Given the description of an element on the screen output the (x, y) to click on. 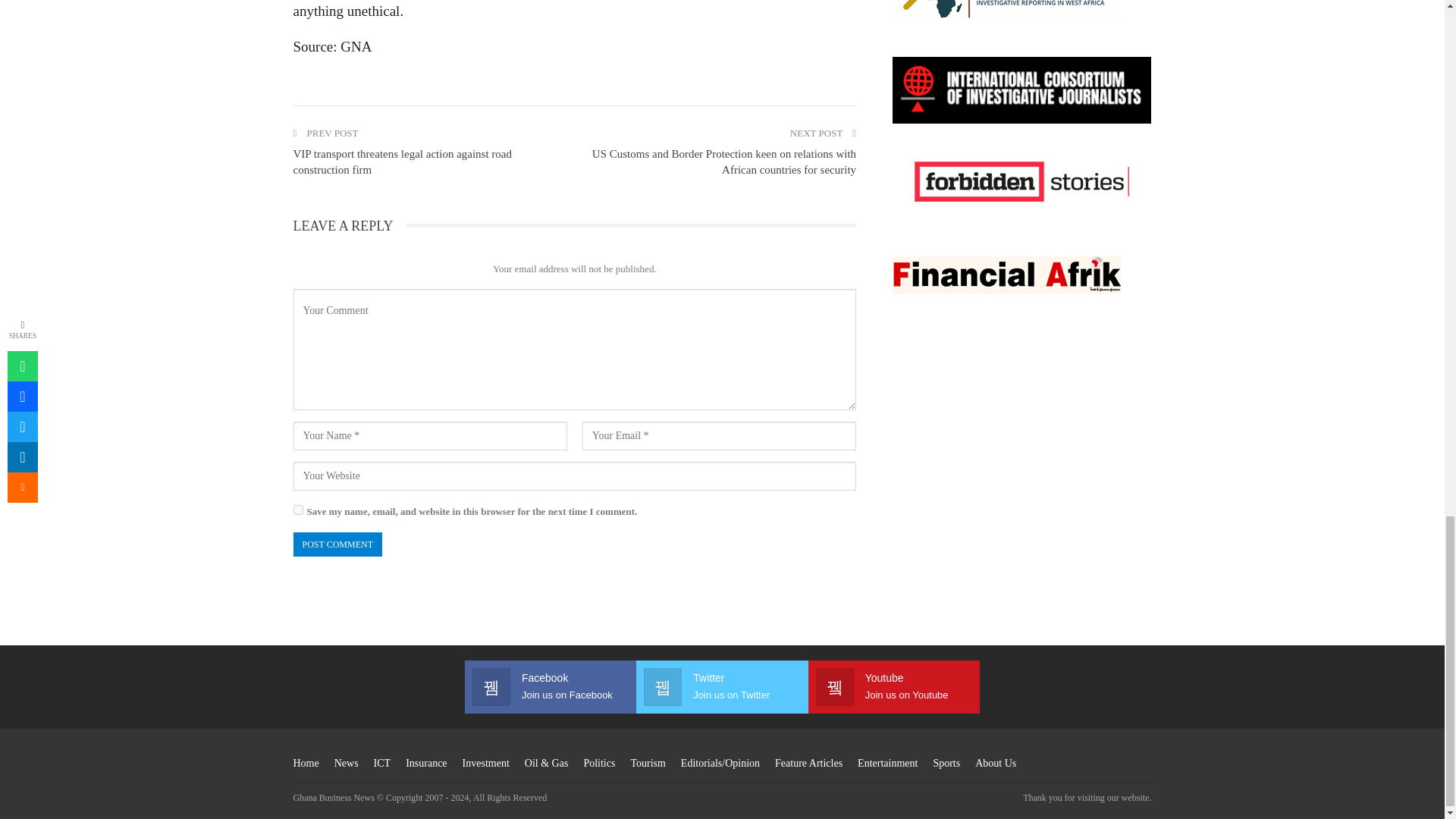
Post Comment (336, 544)
yes (297, 510)
